Given the description of an element on the screen output the (x, y) to click on. 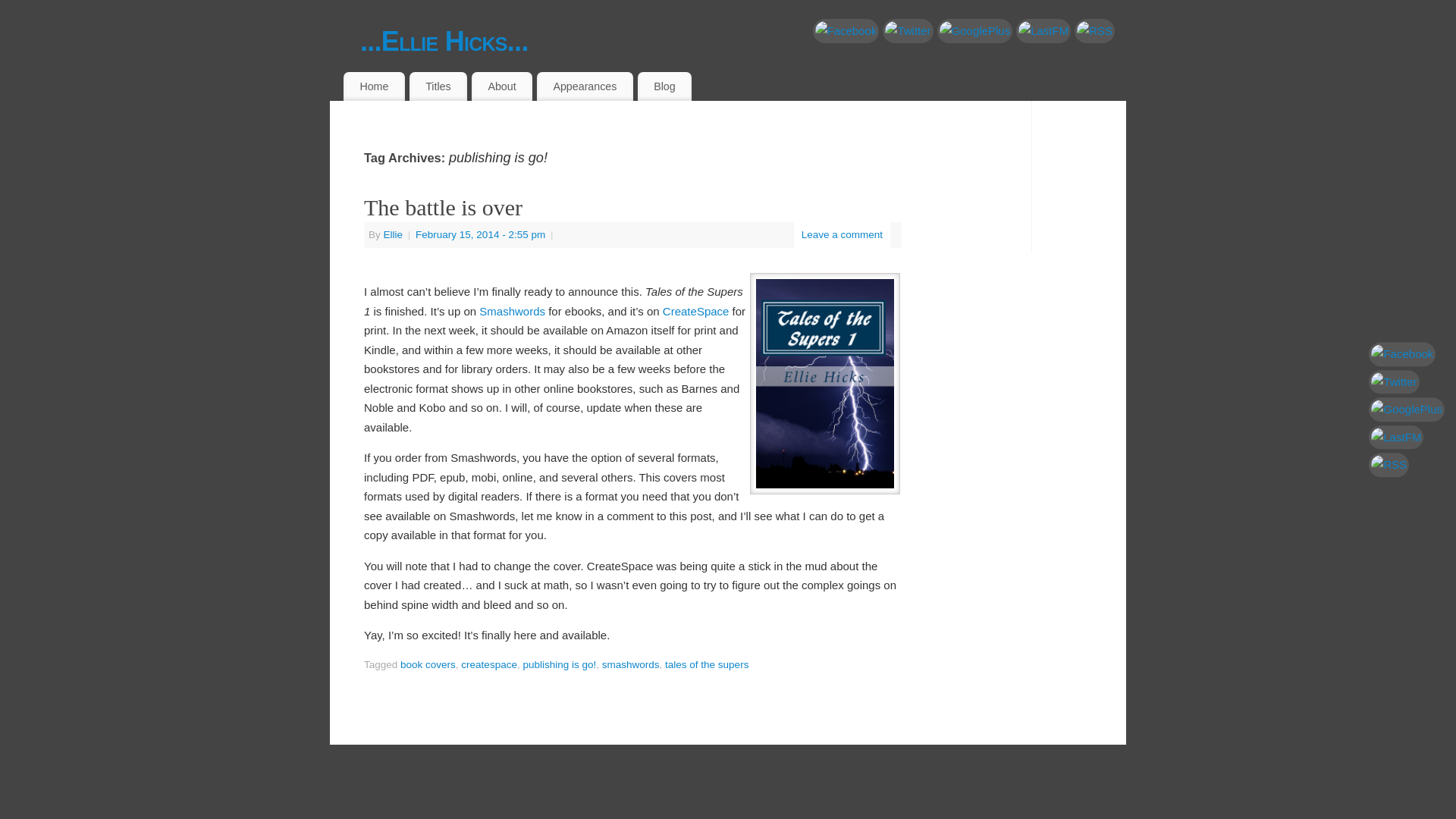
CreateSpace (695, 310)
tales of the supers (706, 664)
The battle is over (443, 207)
Titles (438, 86)
Facebook (845, 30)
book covers (427, 664)
publishing is go! (558, 664)
RSS (1406, 464)
createspace (488, 664)
Leave a comment (842, 234)
